Given the description of an element on the screen output the (x, y) to click on. 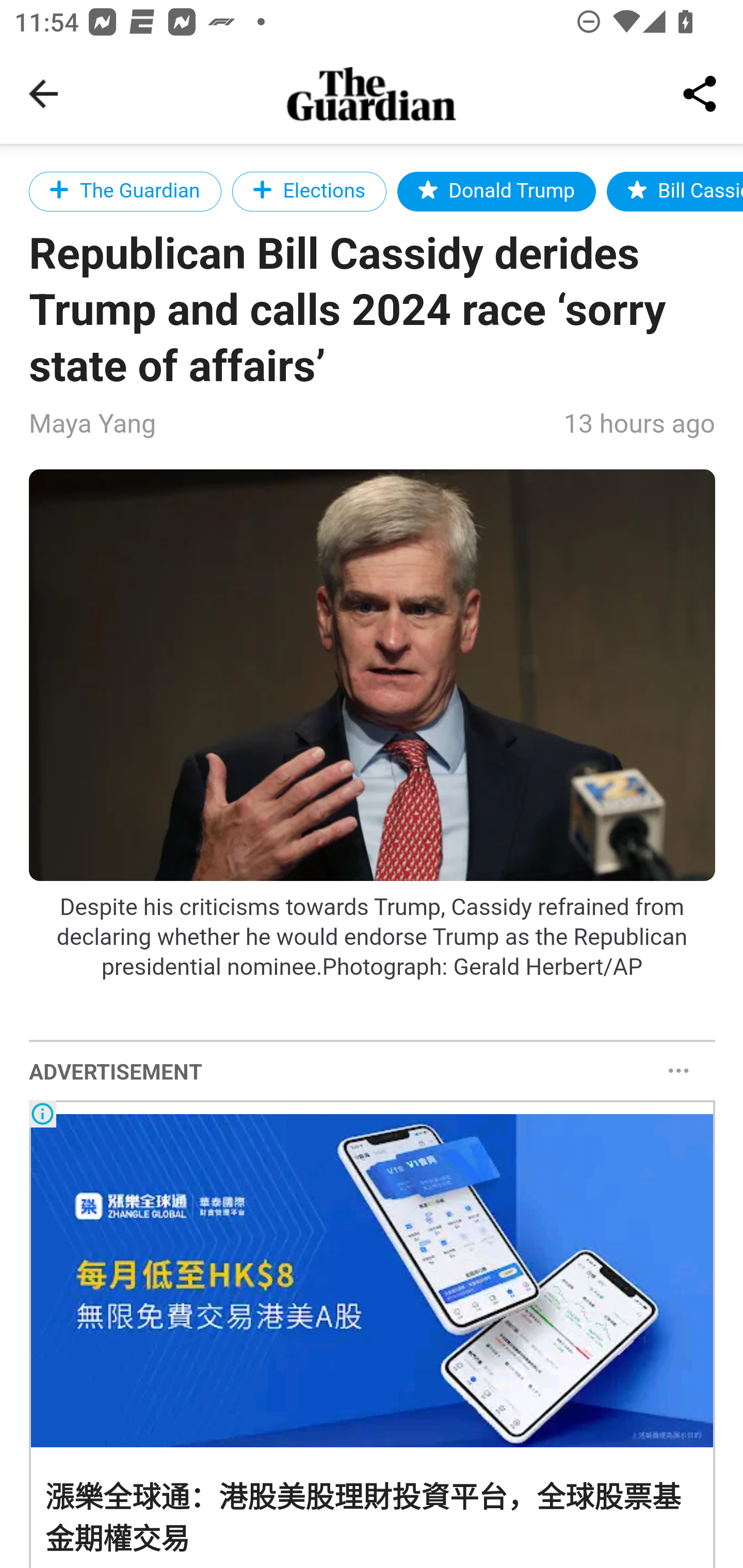
The Guardian (125, 191)
Elections (309, 191)
Donald Trump (496, 191)
